Given the description of an element on the screen output the (x, y) to click on. 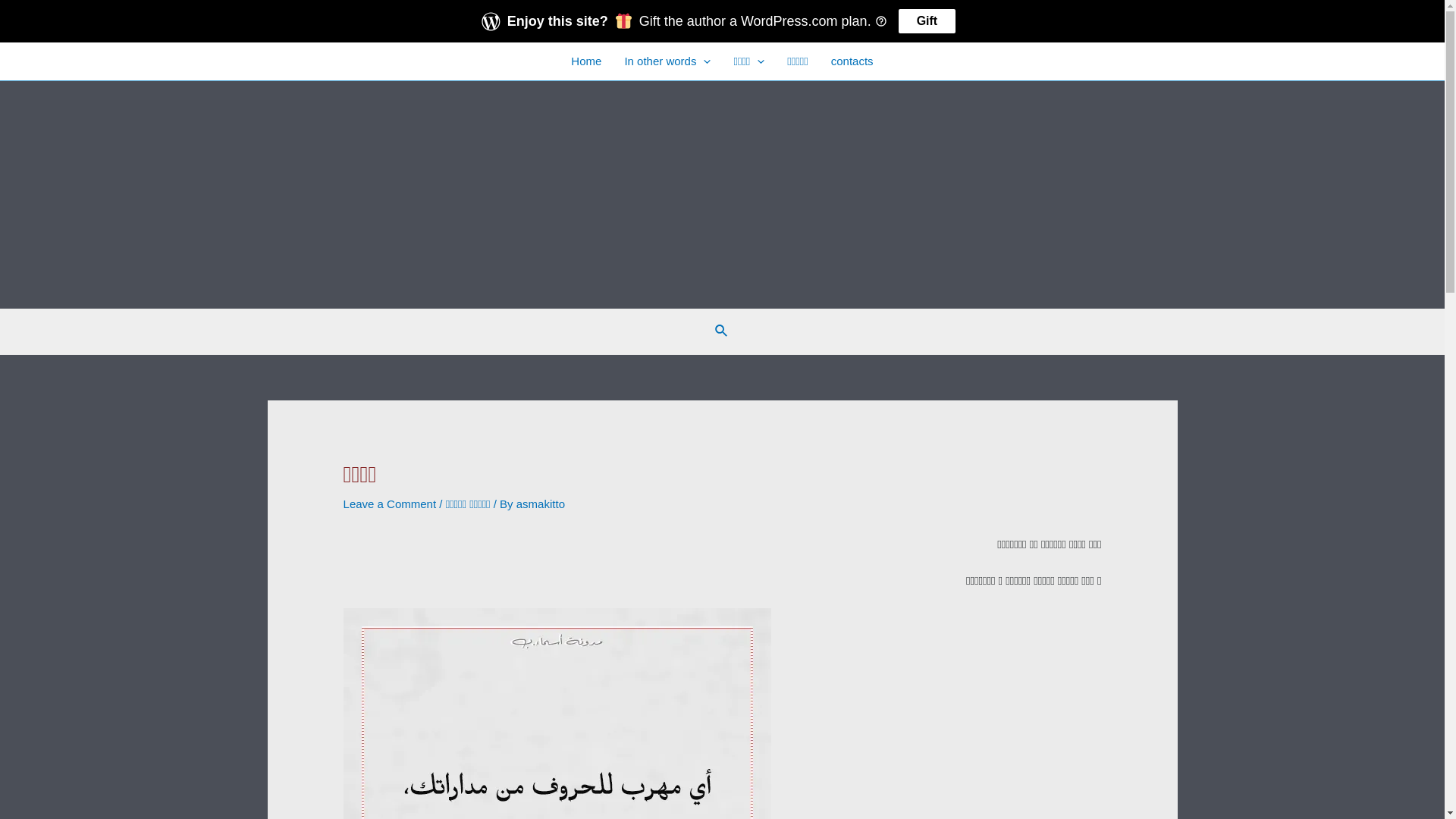
asmakitto Element type: text (540, 503)
Leave a Comment Element type: text (389, 503)
Home Element type: text (585, 61)
Advertisement Element type: hover (721, 194)
In other words Element type: text (666, 61)
contacts Element type: text (851, 61)
Search Element type: text (721, 331)
Gift Element type: text (927, 21)
